Given the description of an element on the screen output the (x, y) to click on. 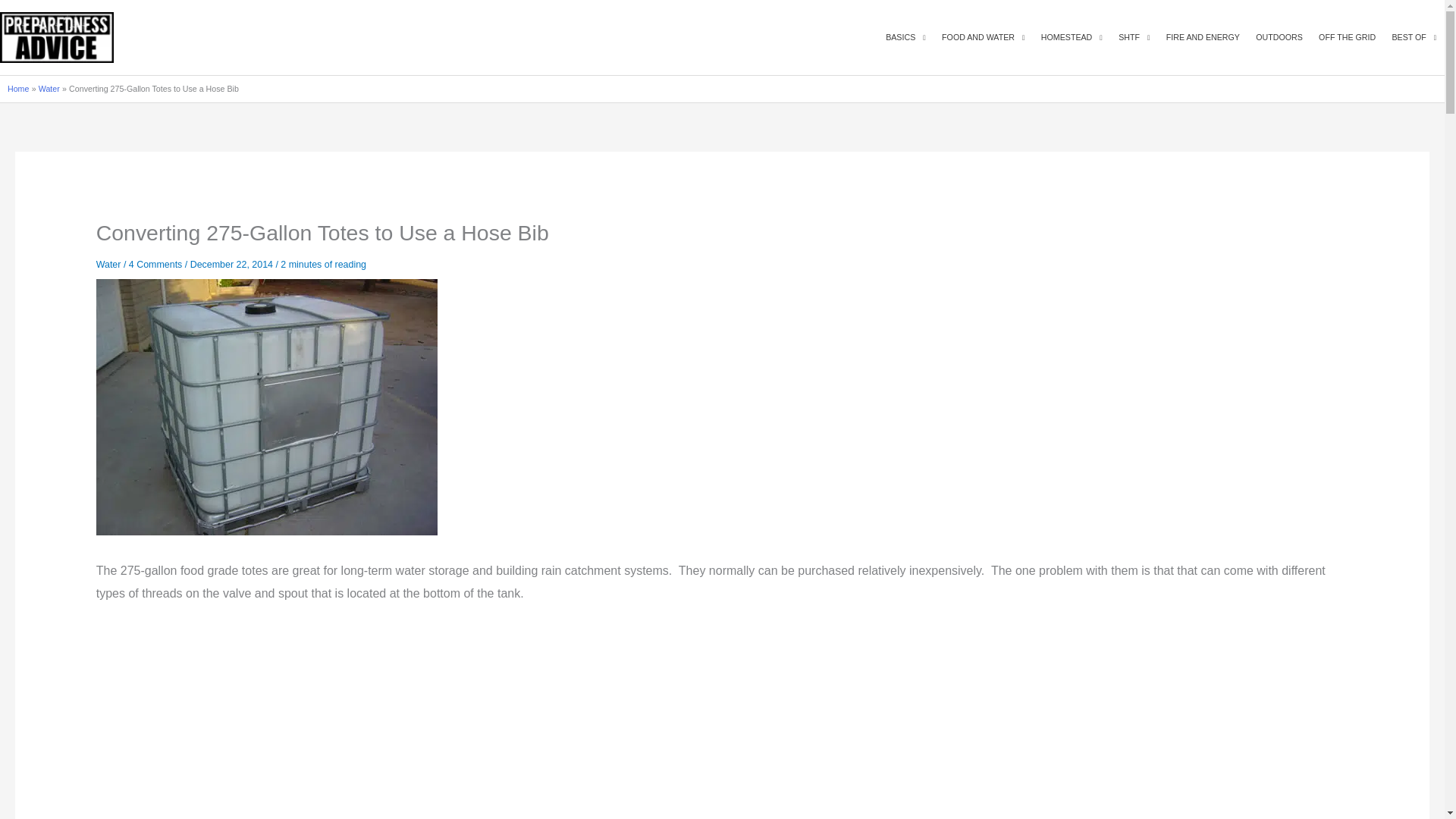
FOOD AND WATER (982, 37)
FIRE AND ENERGY (1202, 37)
OFF THE GRID (1346, 37)
HOMESTEAD (1070, 37)
Home (18, 88)
Water (49, 88)
